Given the description of an element on the screen output the (x, y) to click on. 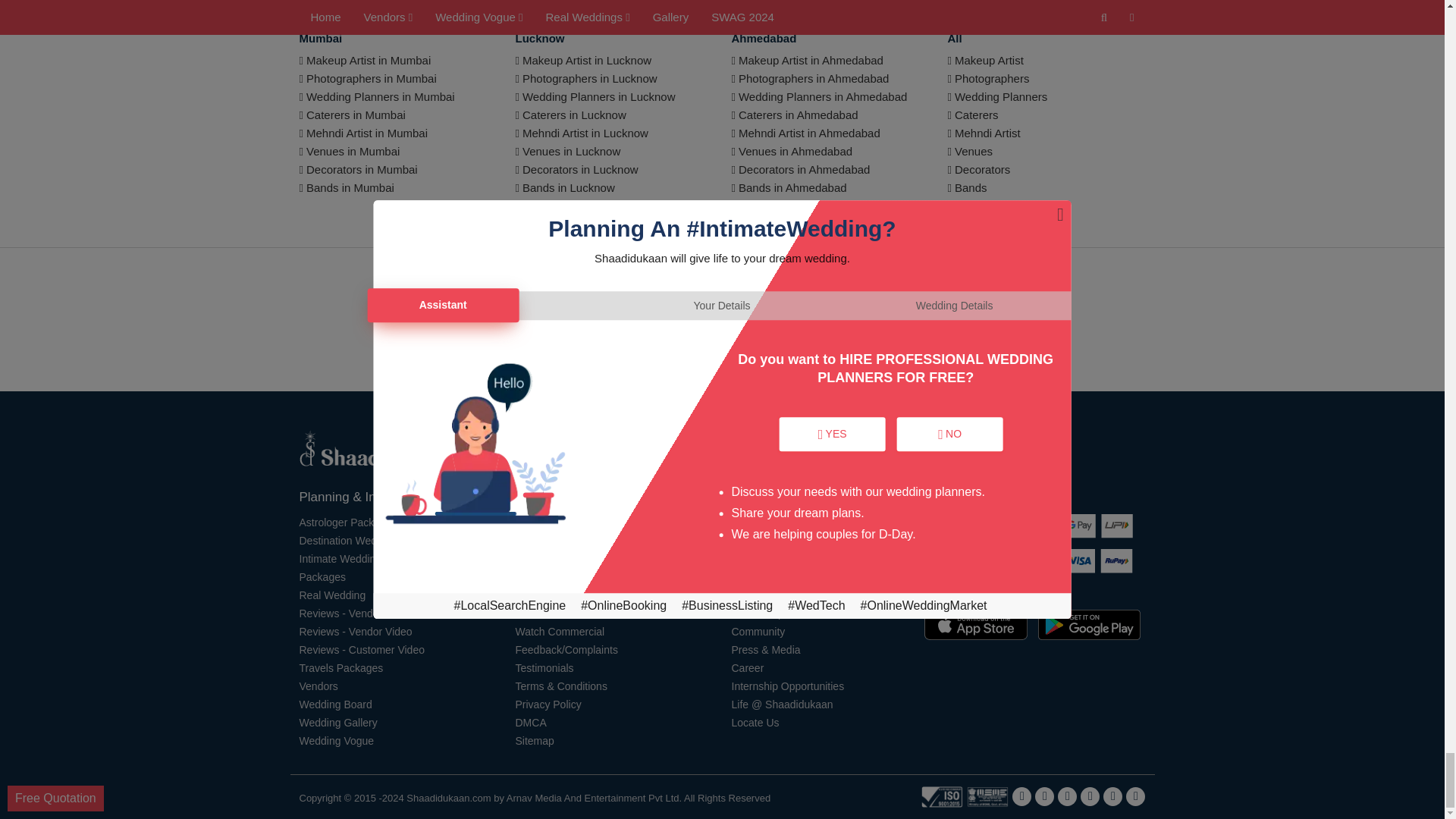
Vendor Reviews (355, 631)
Customer Reviews (360, 649)
Real Wedding (331, 594)
Destination Wedding Packages (371, 540)
Astrologer (347, 522)
Vendor Reviews (339, 613)
Intimate Wedding (339, 558)
Travels (340, 667)
Packages (321, 576)
